Given the description of an element on the screen output the (x, y) to click on. 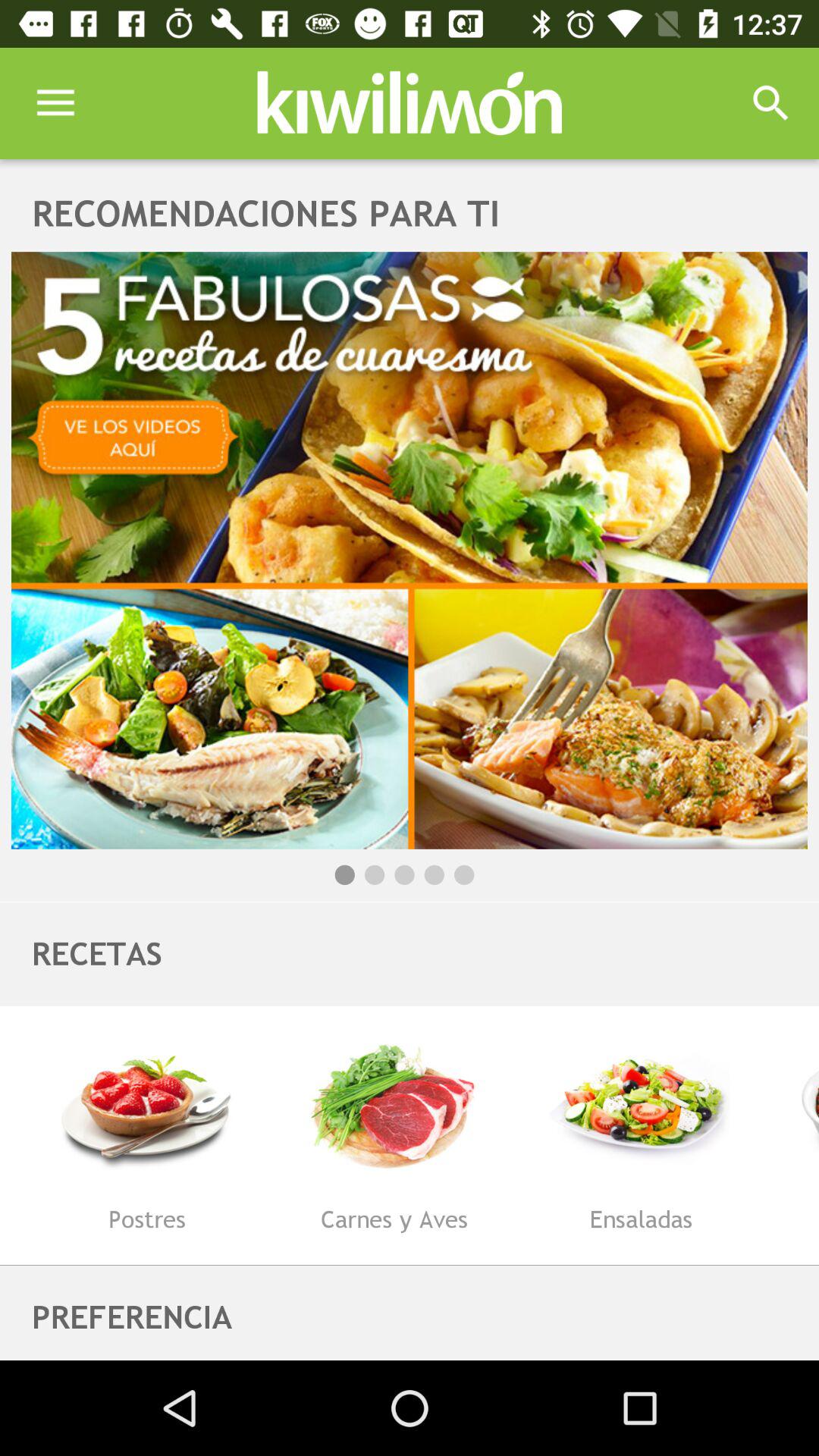
go to this article (409, 550)
